Given the description of an element on the screen output the (x, y) to click on. 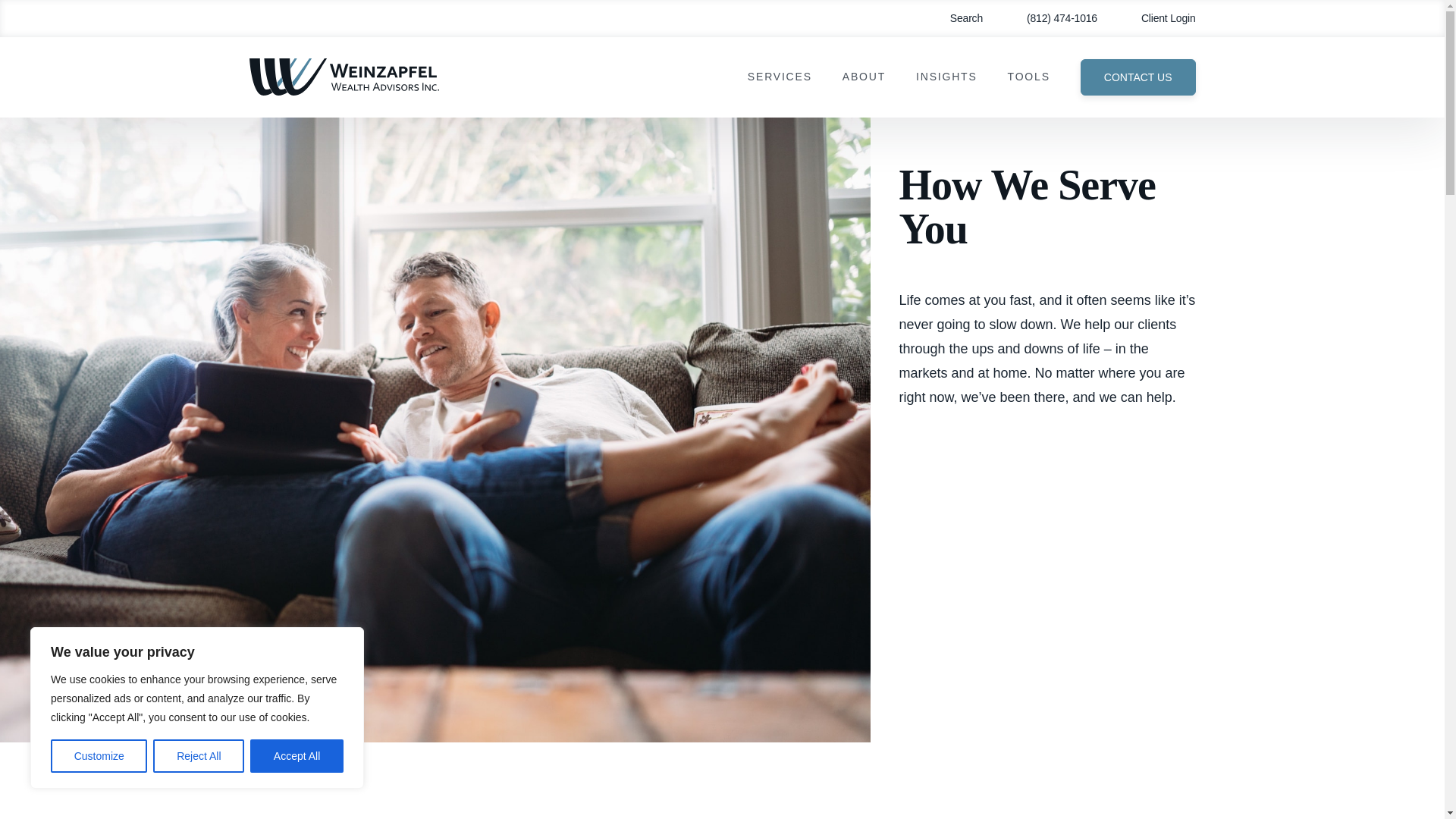
SERVICES (780, 77)
Client Login (1157, 18)
TOOLS (1028, 77)
Reject All (198, 756)
Search (955, 18)
Customize (98, 756)
INSIGHTS (945, 77)
Accept All (296, 756)
ABOUT (864, 77)
